Given the description of an element on the screen output the (x, y) to click on. 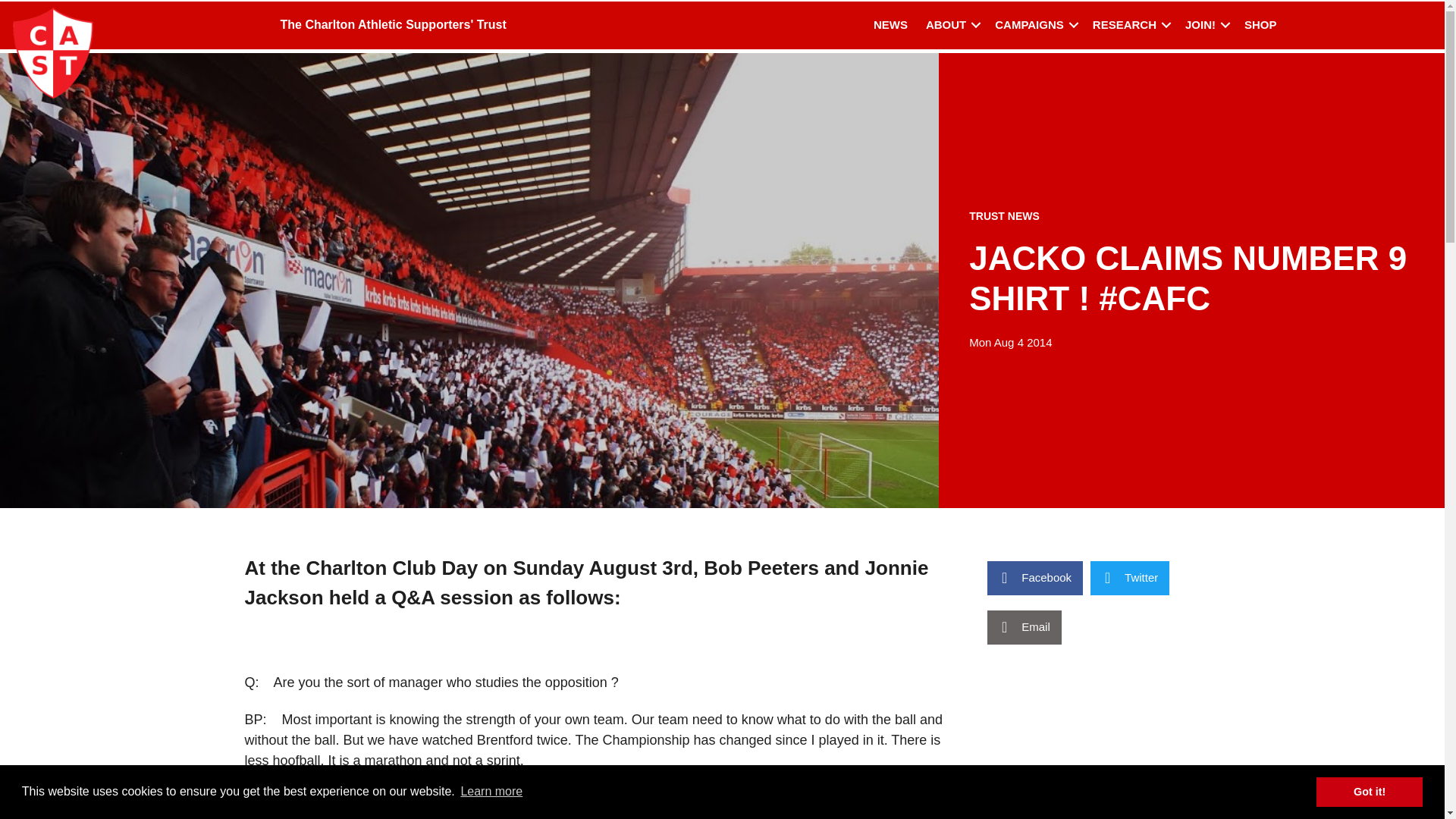
RESEARCH (1129, 25)
ABOUT (951, 25)
Twitter (1129, 578)
Learn more (491, 791)
JOIN! (1205, 25)
SHOP (1259, 25)
Got it! (1369, 791)
Email (1024, 626)
TRUST NEWS (1004, 215)
Facebook (1035, 578)
NEWS (890, 25)
CAMPAIGNS (1034, 25)
CASTrust-Site-Icon (53, 52)
